Given the description of an element on the screen output the (x, y) to click on. 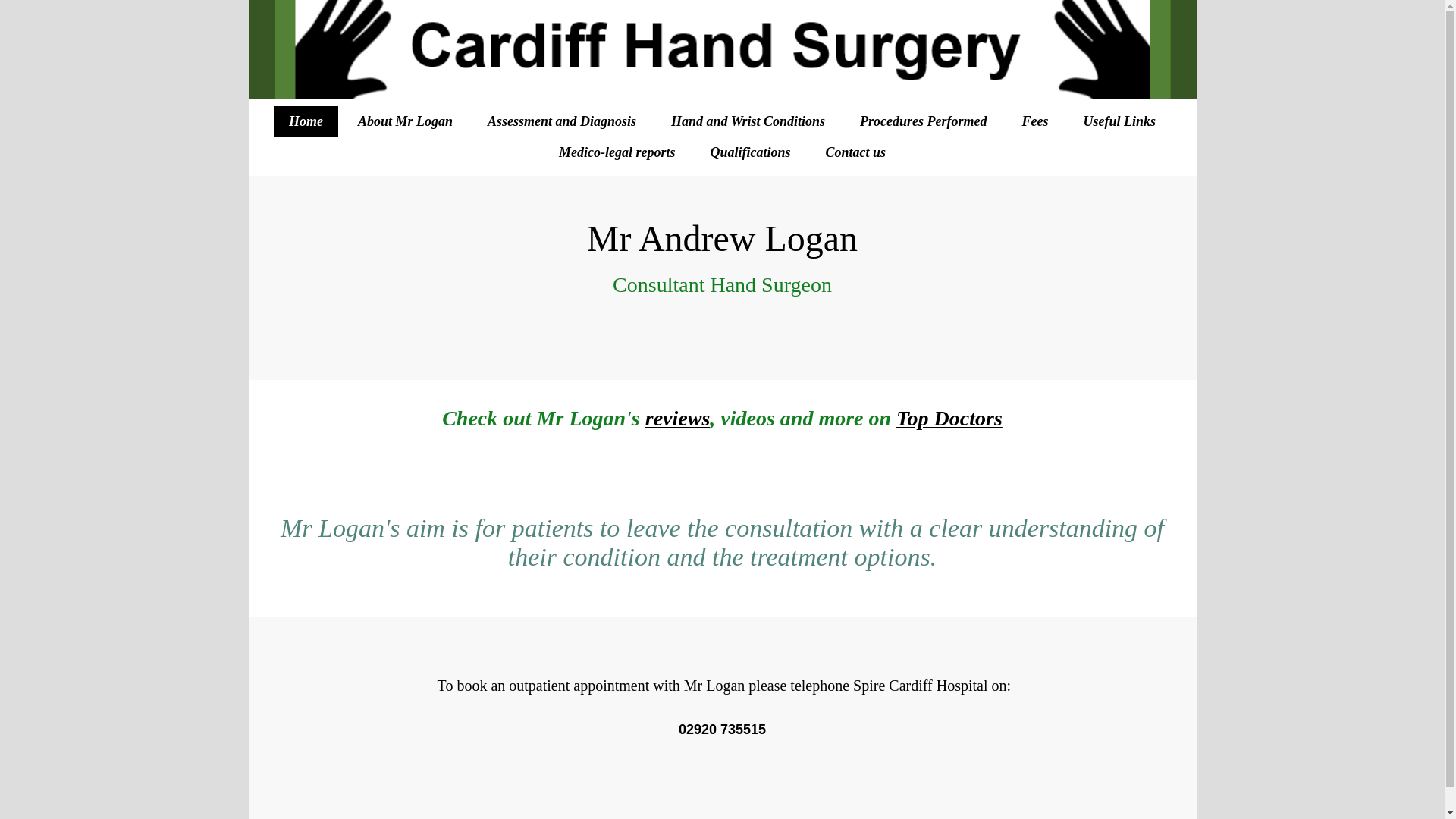
Contact us (855, 152)
Qualifications (749, 152)
Home (305, 121)
Useful Links (1118, 121)
reviews (677, 417)
Medico-legal reports (616, 152)
Fees (1034, 121)
Procedures Performed (922, 121)
Qualifications (749, 152)
Procedures Performed (922, 121)
Home (305, 121)
Contact us (855, 152)
About Mr Logan (404, 121)
Medico-legal reports (616, 152)
Assessment and Diagnosis (560, 121)
